Given the description of an element on the screen output the (x, y) to click on. 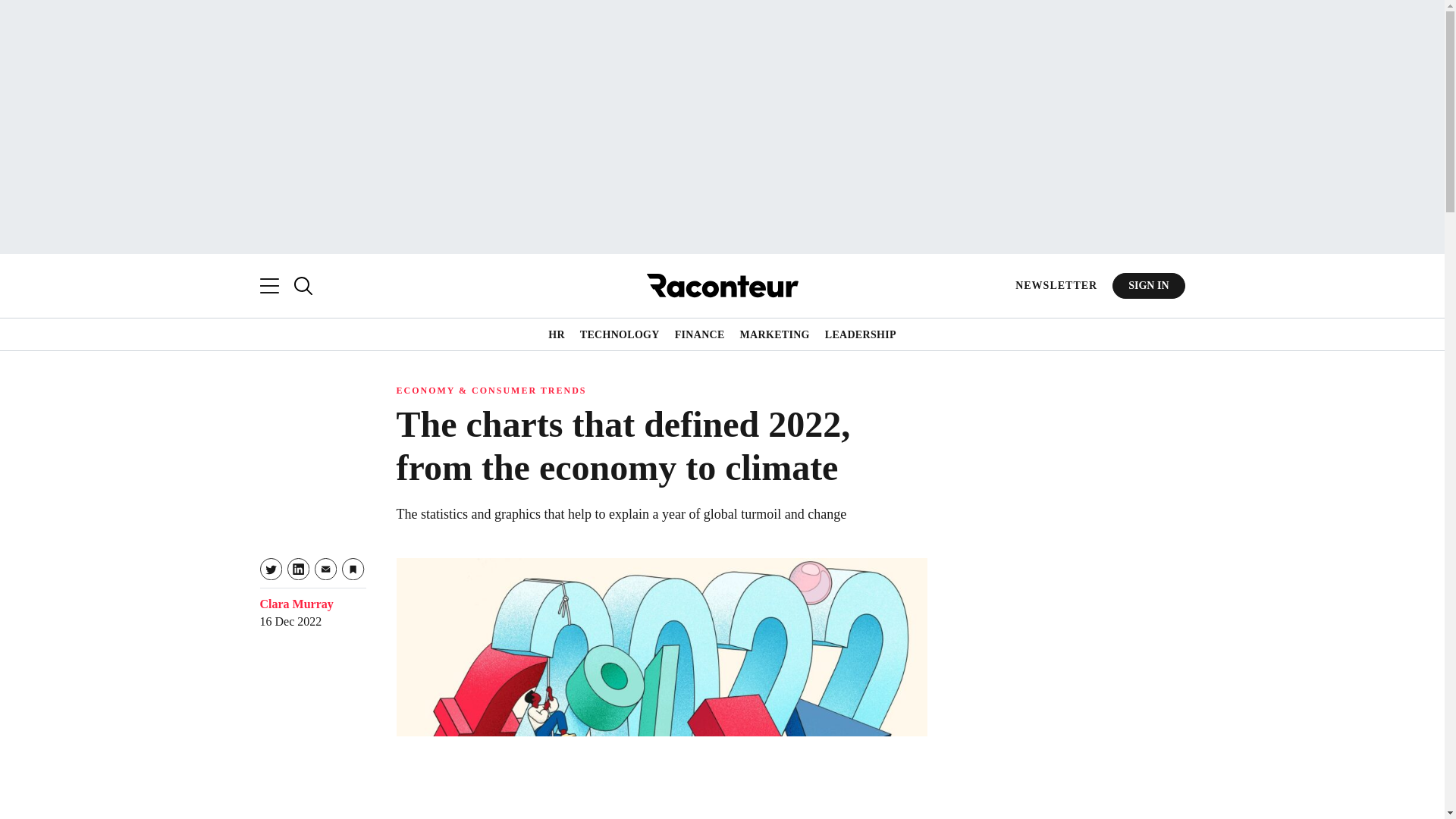
HR (556, 334)
MARKETING (774, 334)
Clara Murray (296, 603)
TECHNOLOGY (619, 334)
LEADERSHIP (860, 334)
SIGN IN (1148, 285)
NEWSLETTER (1055, 285)
FINANCE (700, 334)
Raconteur (721, 285)
